Given the description of an element on the screen output the (x, y) to click on. 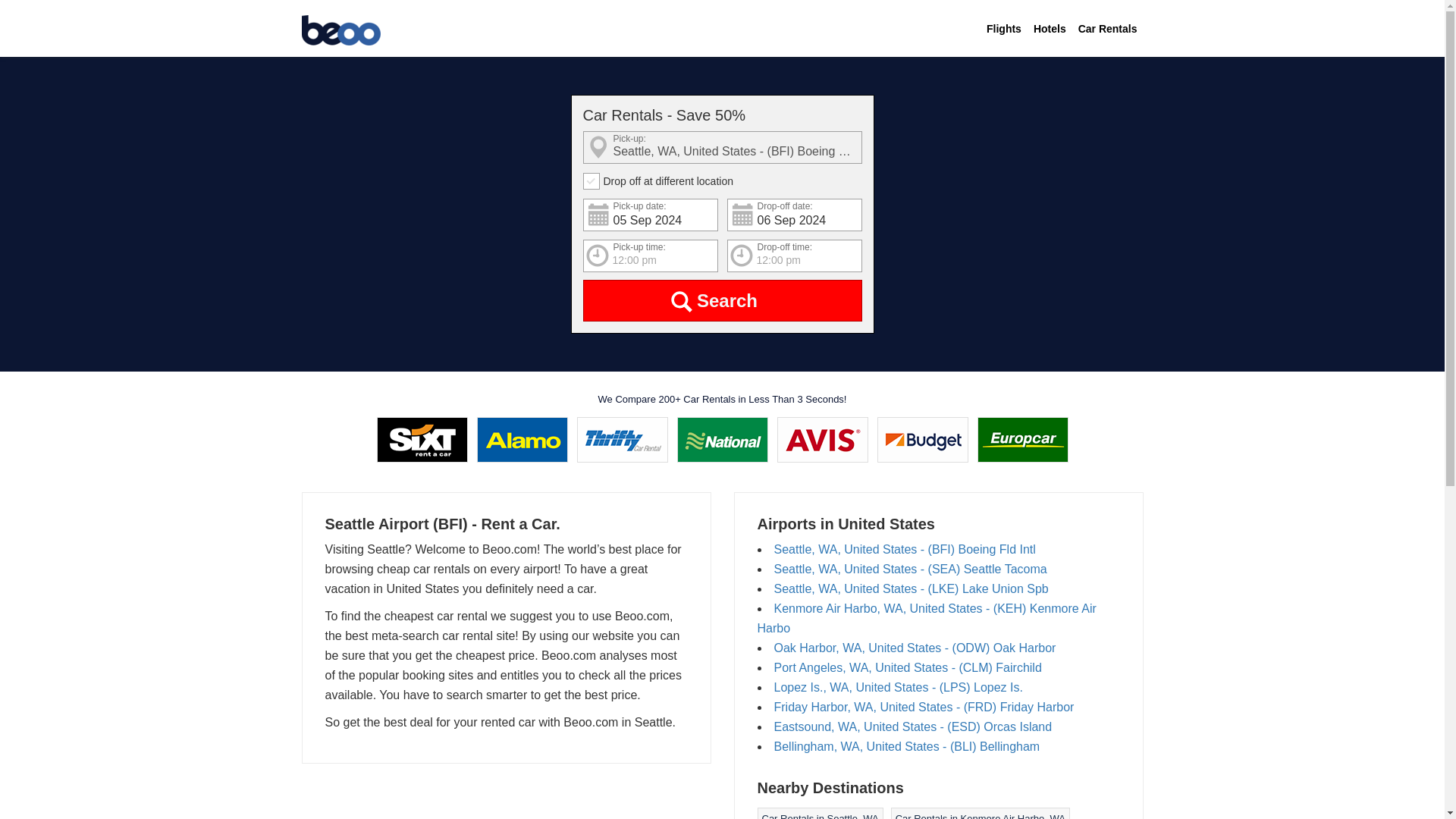
Car Rentals in Kenmore Air Harbo, WA (980, 816)
Flights (1003, 28)
Car Rentals in Seattle, WA (819, 816)
Car Rentals (1106, 28)
Search (721, 300)
Hotels (1049, 28)
